Given the description of an element on the screen output the (x, y) to click on. 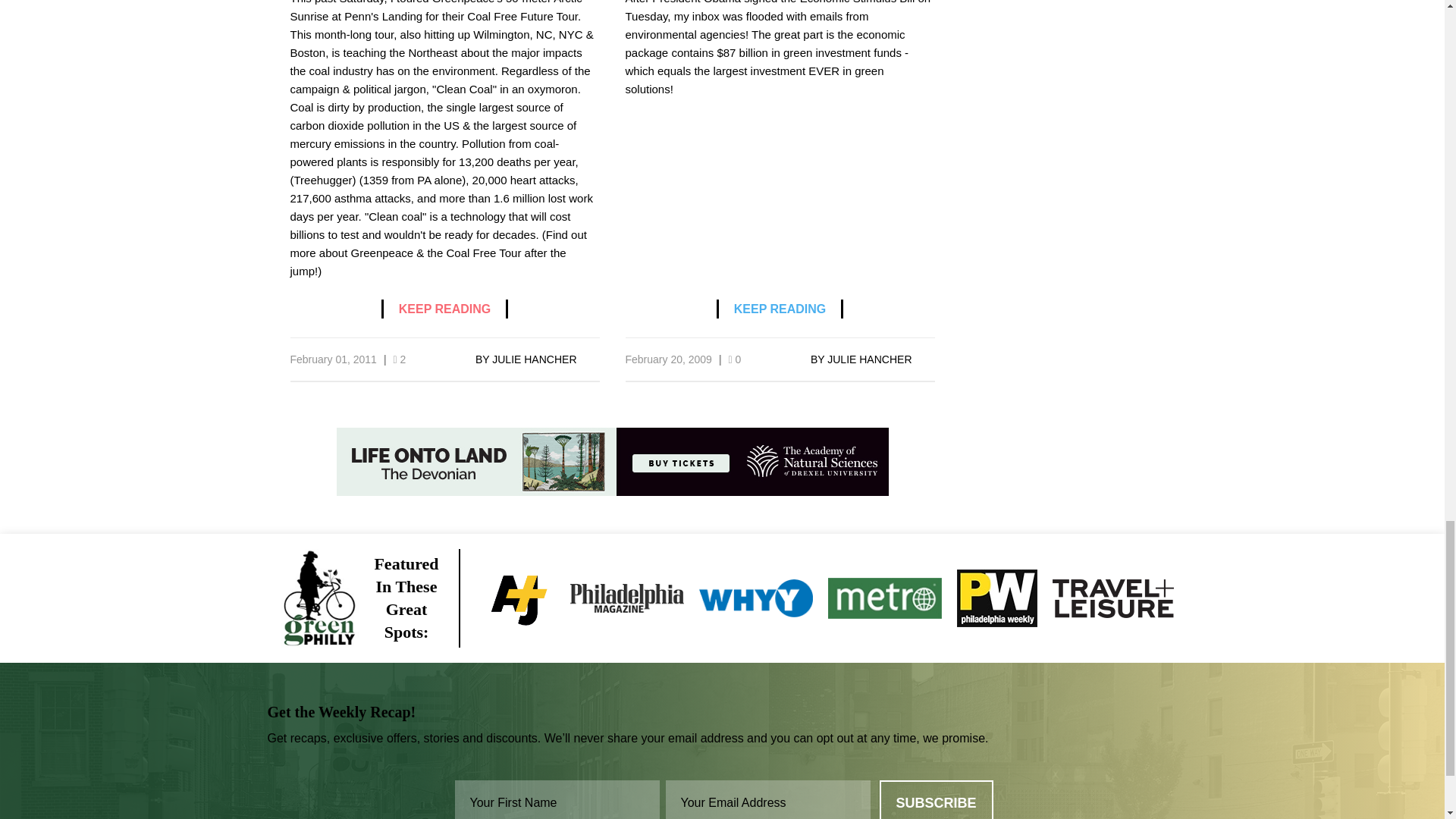
Subscribe (935, 799)
